Given the description of an element on the screen output the (x, y) to click on. 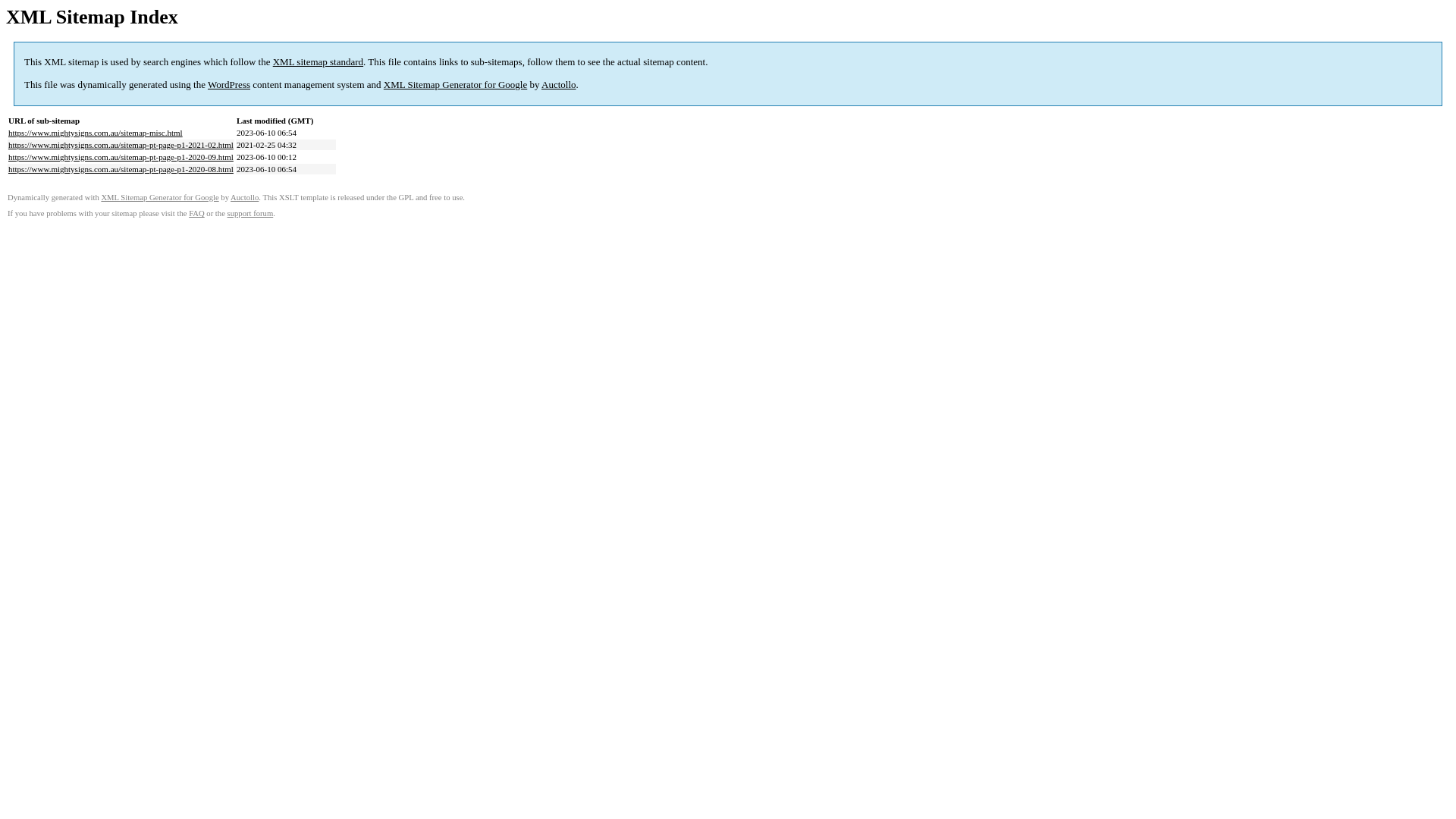
Auctollo Element type: text (558, 84)
WordPress Element type: text (228, 84)
XML Sitemap Generator for Google Element type: text (159, 197)
XML sitemap standard Element type: text (318, 61)
XML Sitemap Generator for Google Element type: text (455, 84)
https://www.mightysigns.com.au/sitemap-misc.html Element type: text (95, 132)
Auctollo Element type: text (244, 197)
support forum Element type: text (250, 213)
FAQ Element type: text (196, 213)
